Given the description of an element on the screen output the (x, y) to click on. 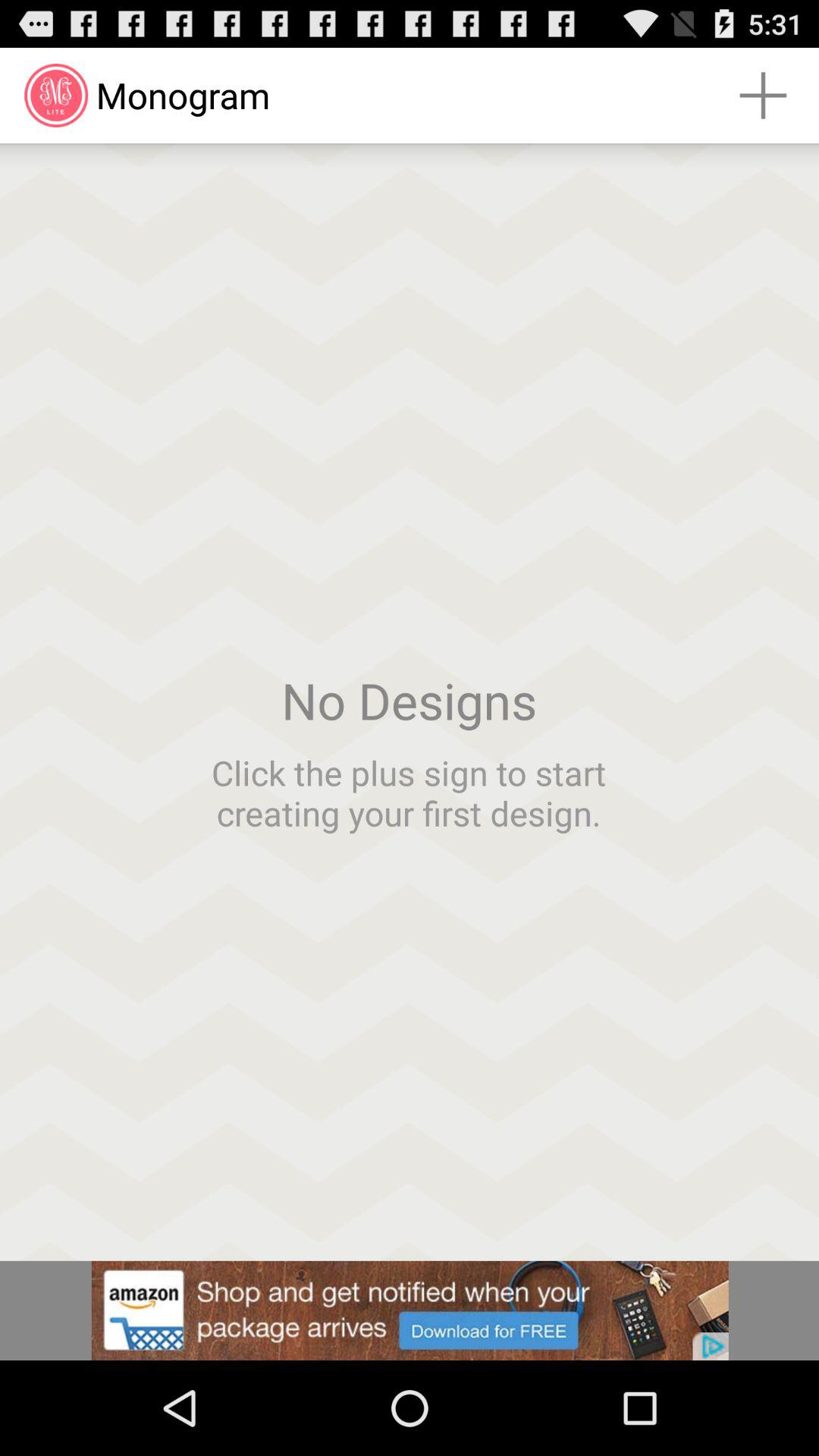
add the option (409, 1310)
